Given the description of an element on the screen output the (x, y) to click on. 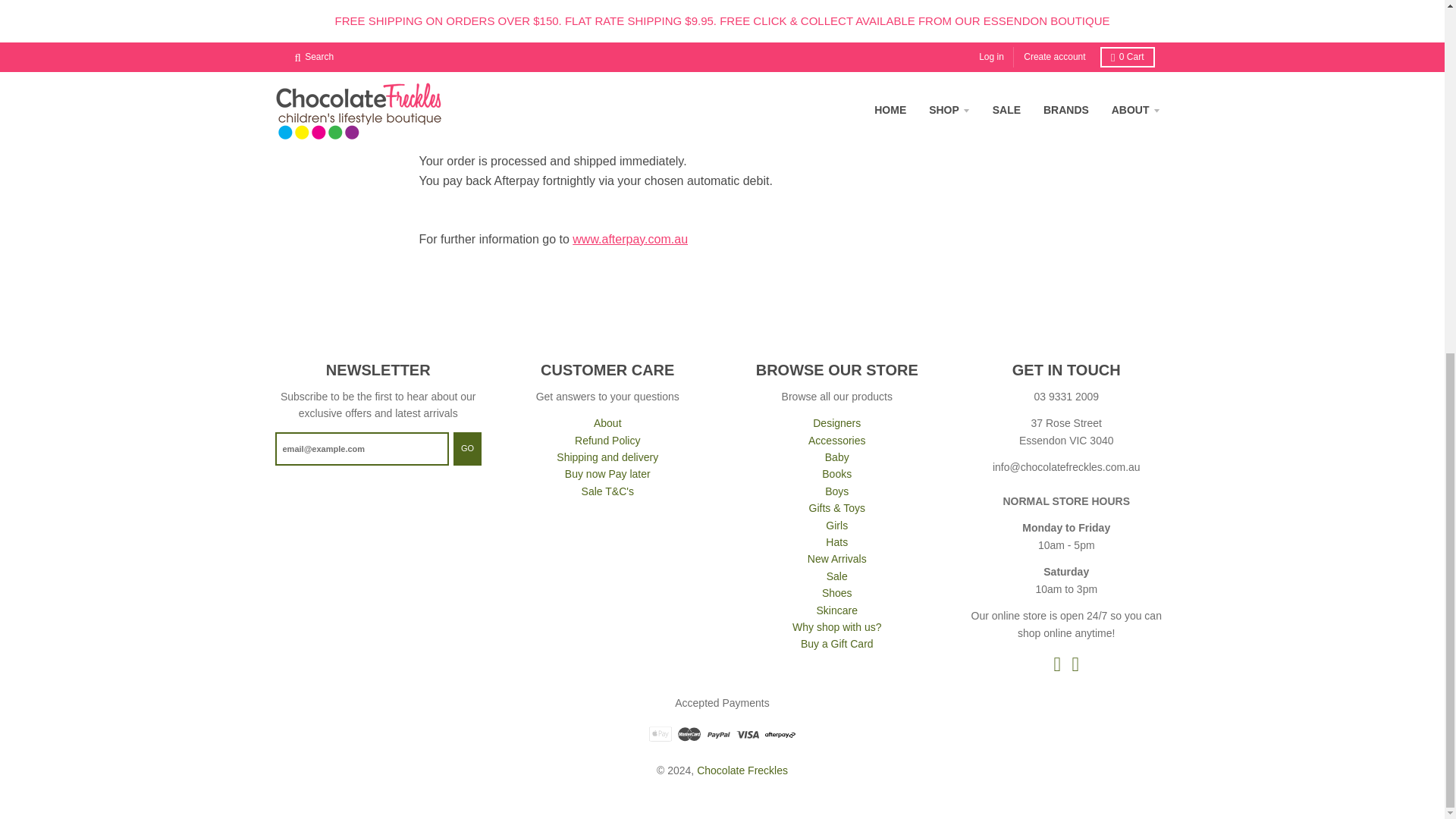
After Pay (629, 238)
